Given the description of an element on the screen output the (x, y) to click on. 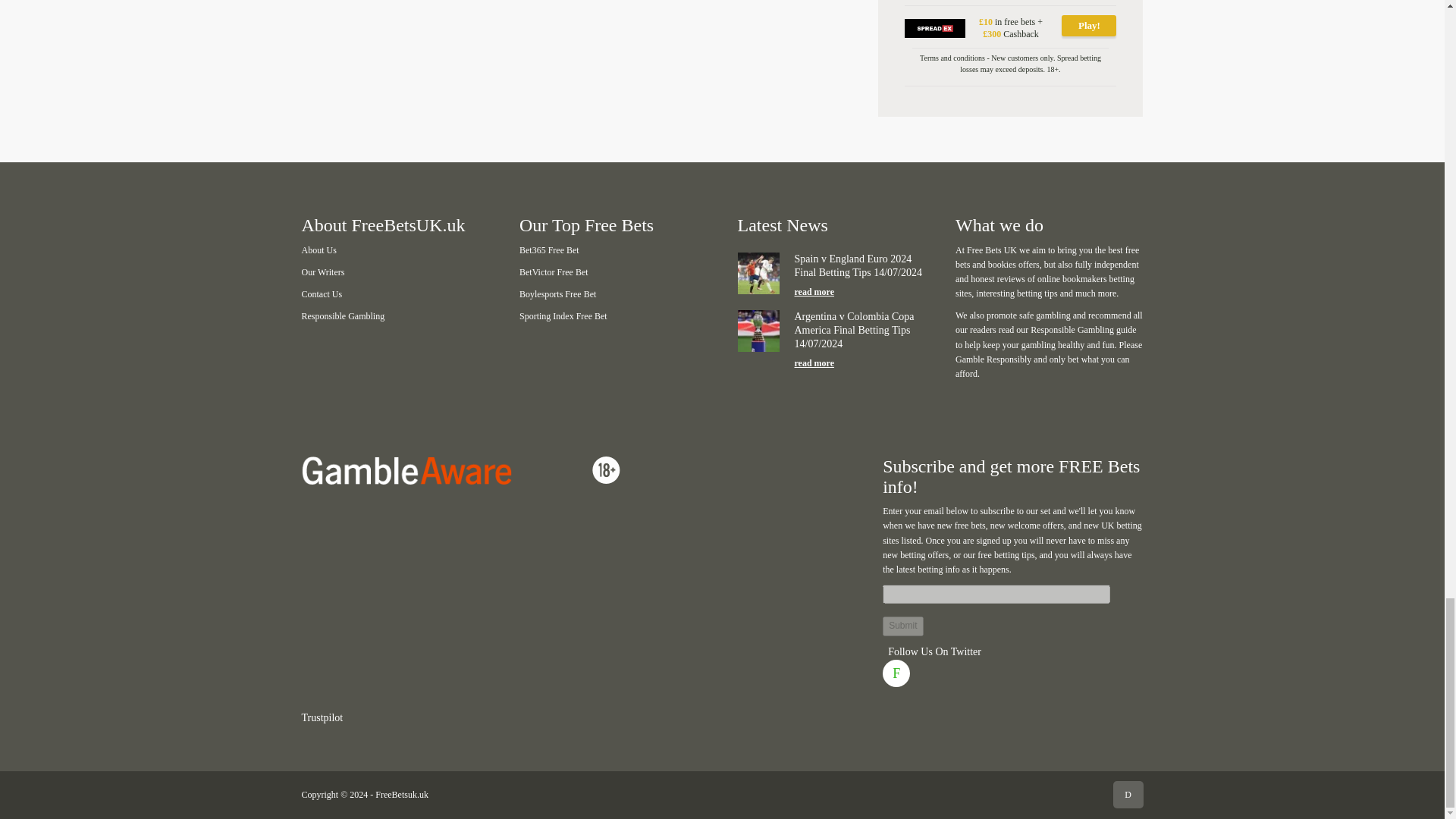
Submit (902, 625)
